Given the description of an element on the screen output the (x, y) to click on. 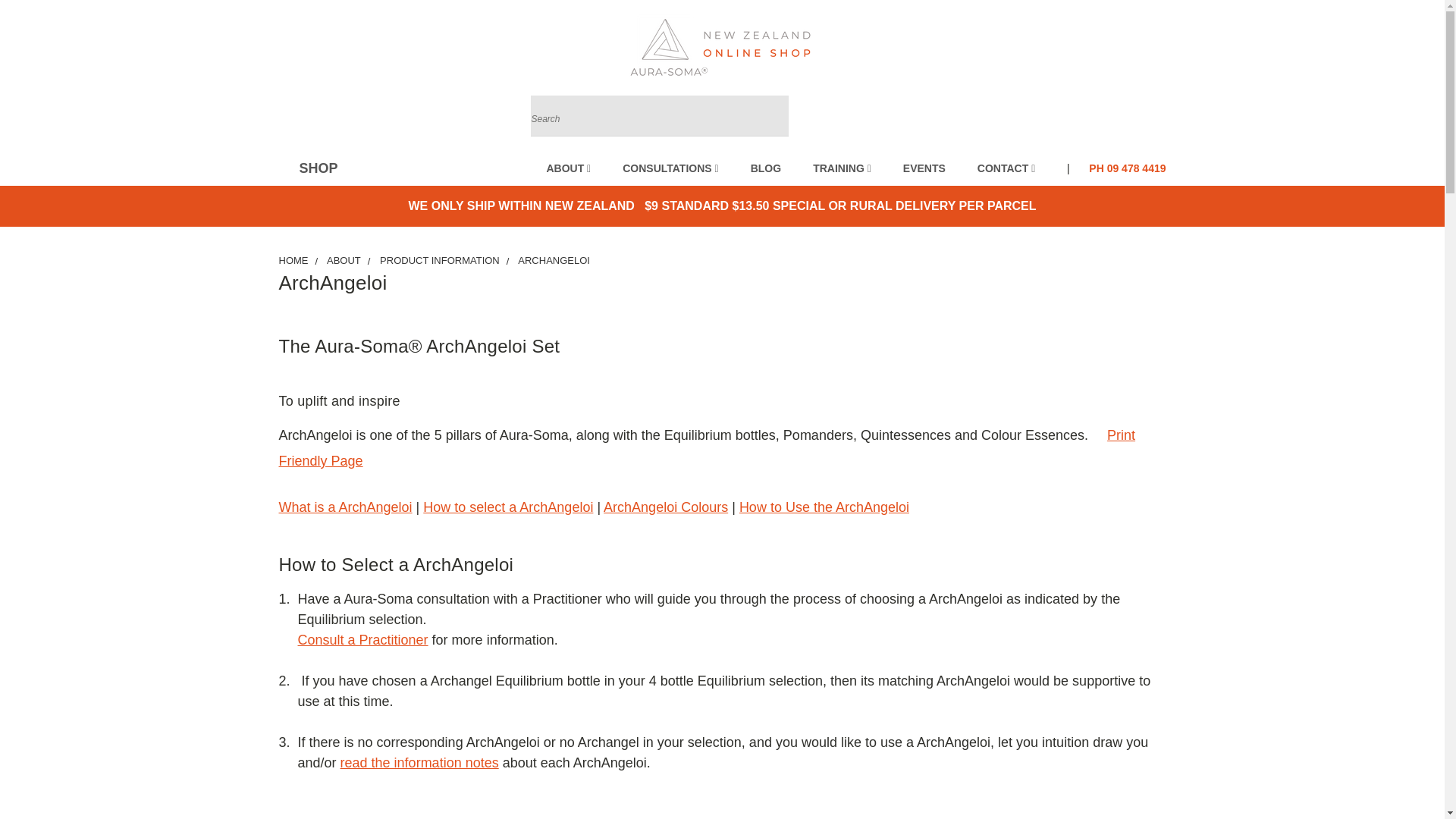
SHOP (316, 168)
submit (772, 115)
